Given the description of an element on the screen output the (x, y) to click on. 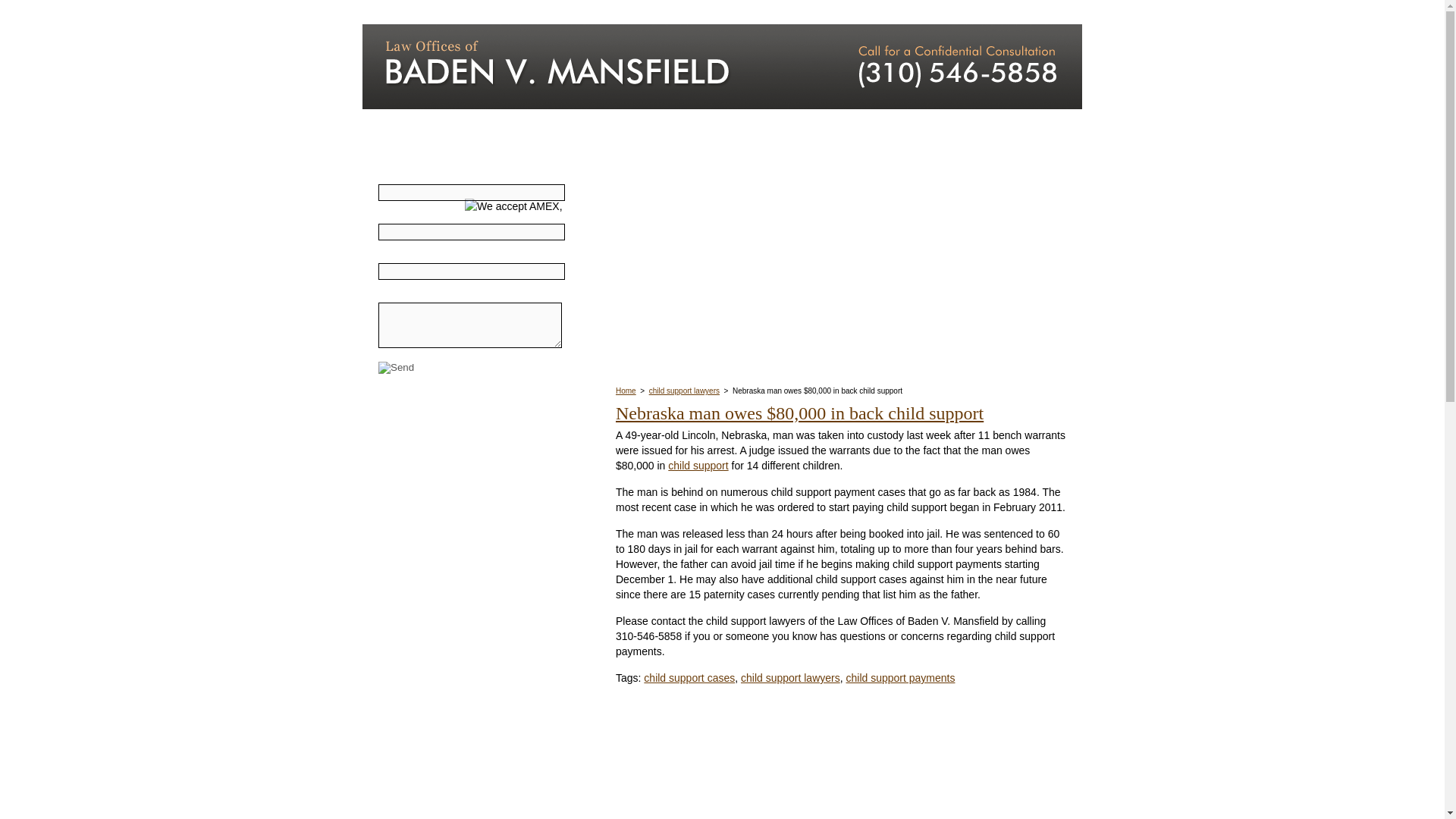
Contact (1019, 12)
Prenuptial Agreements (451, 462)
Separation Agreements (452, 610)
Home (405, 12)
Phone (471, 231)
Home (625, 390)
Contact the Law Offices of Baden V. Mansfield (947, 67)
Manhattan Beach Divorce Lawyer (587, 67)
Domestic Partnerships (450, 666)
Attorney Profile (662, 12)
Email (471, 271)
Name (471, 192)
child support lawyers (790, 677)
Property Division (437, 538)
We accept AMEX, Mastercard, Visa, and Discover (488, 164)
